Given the description of an element on the screen output the (x, y) to click on. 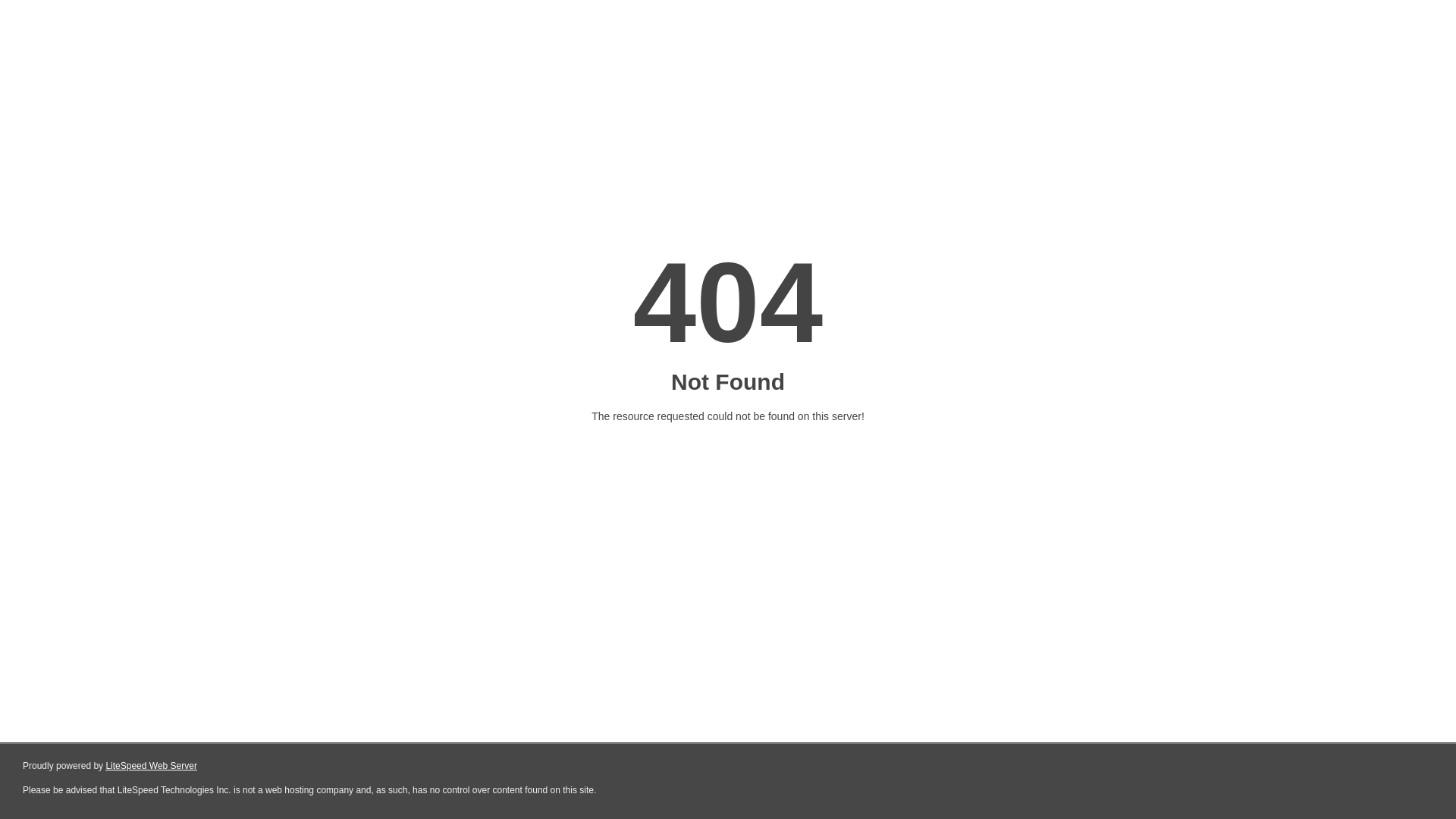
LiteSpeed Web Server Element type: text (151, 765)
